Given the description of an element on the screen output the (x, y) to click on. 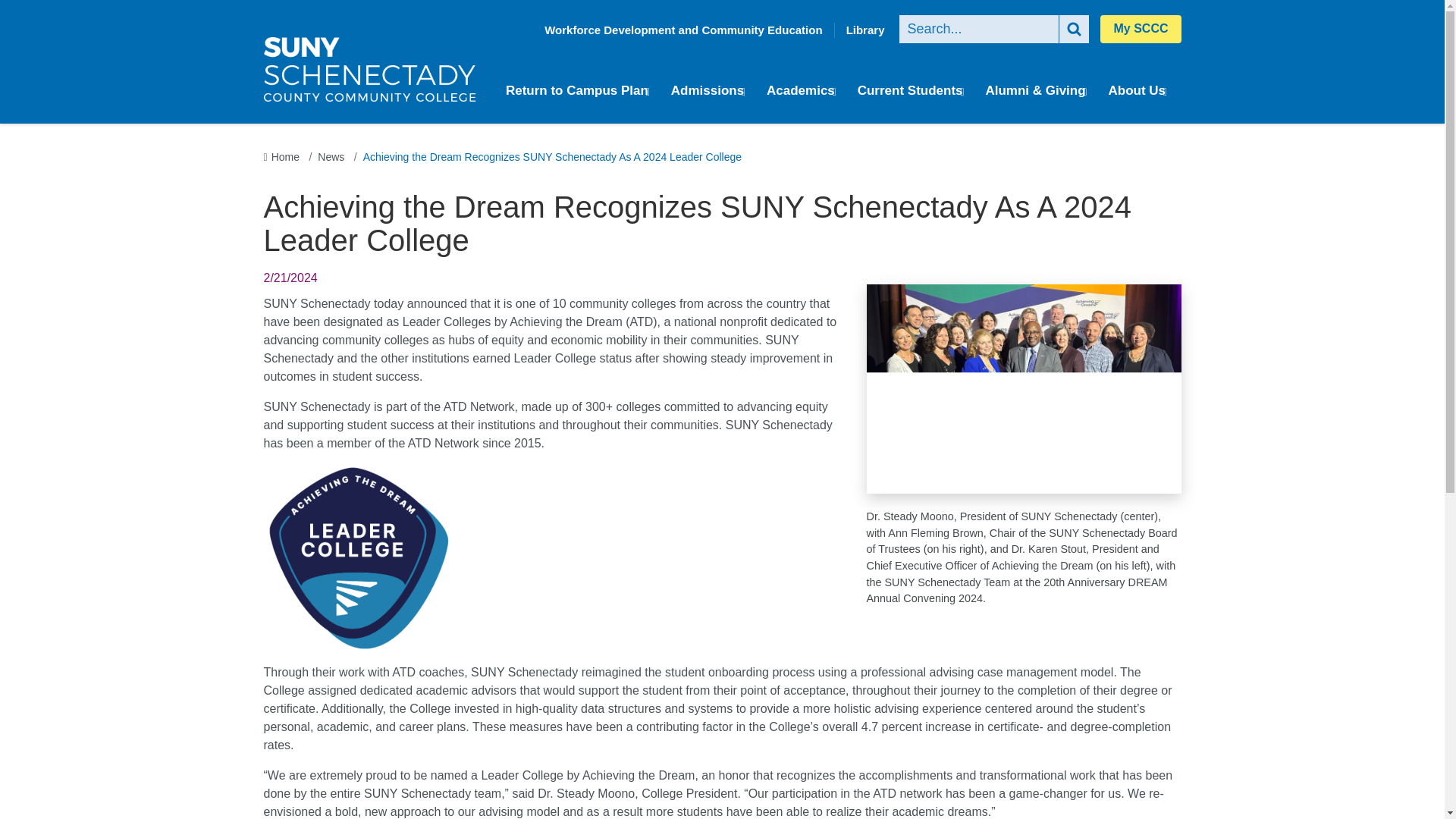
GO (1073, 29)
Workforce Development and Community Education (682, 29)
Academics (805, 90)
My SCCC (1140, 29)
Admissions (710, 90)
Return to Campus Plan (581, 90)
GO (1073, 29)
Library (865, 29)
My SCCC (1140, 29)
